Given the description of an element on the screen output the (x, y) to click on. 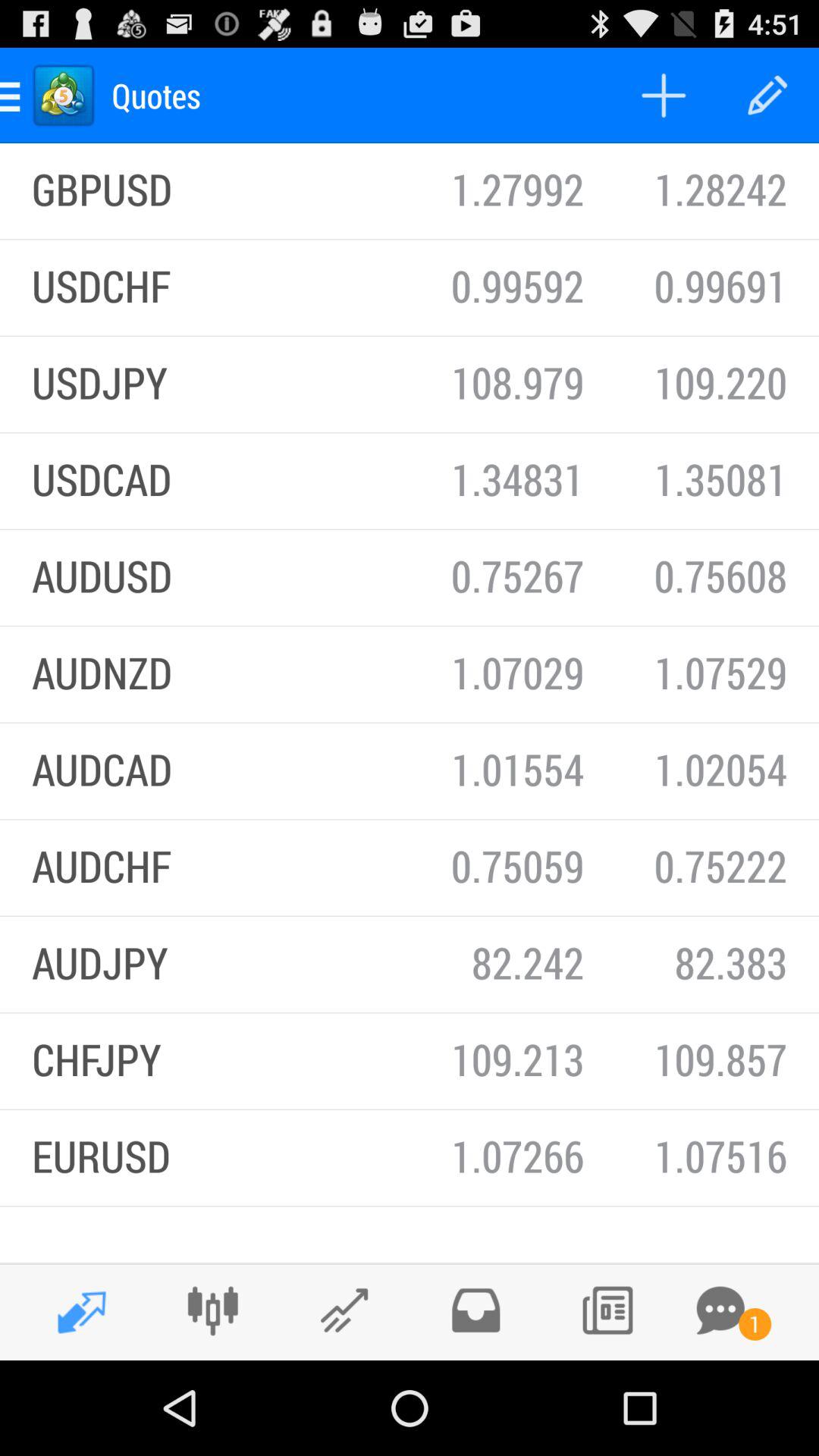
open news section (606, 1310)
